Given the description of an element on the screen output the (x, y) to click on. 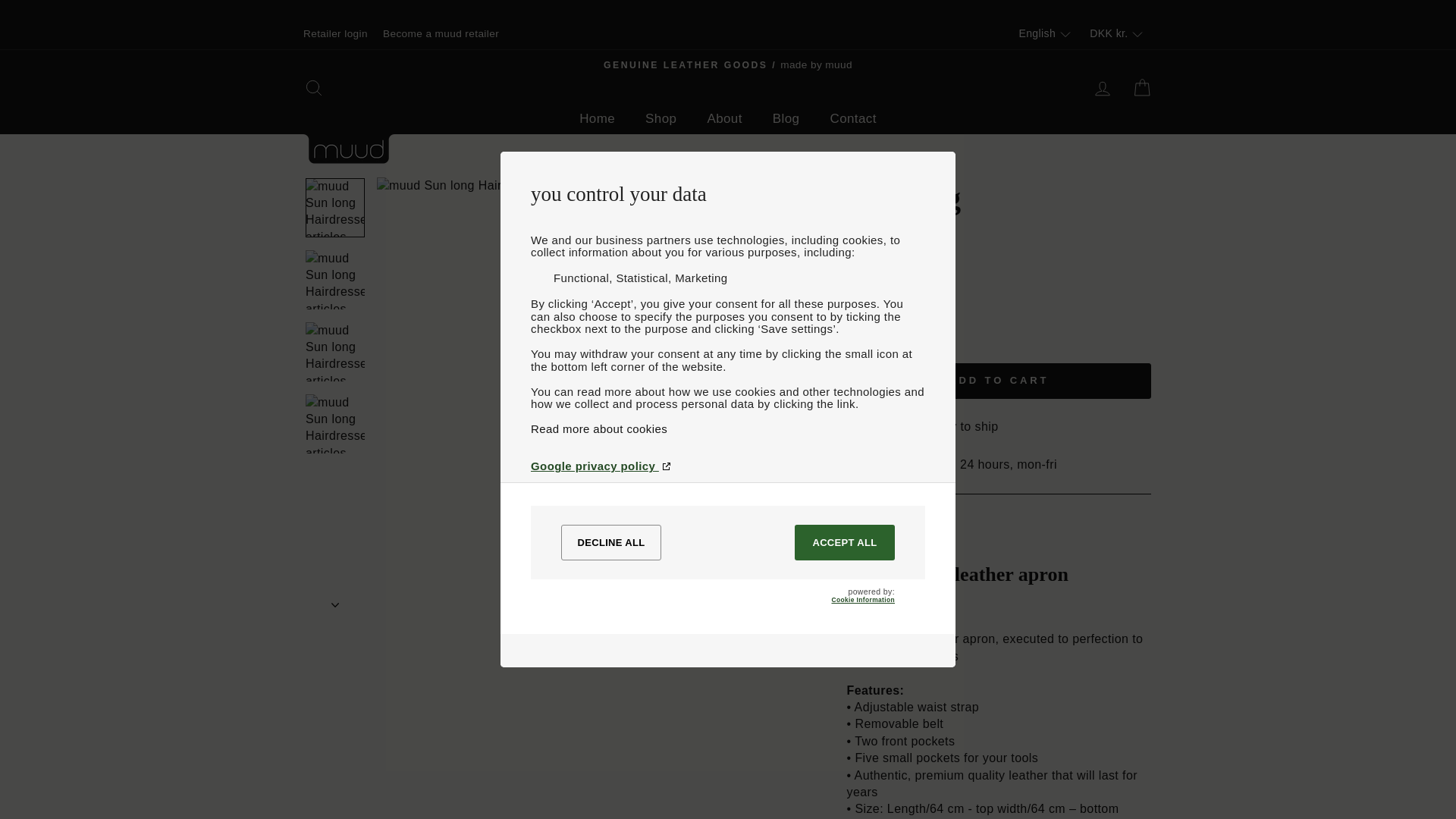
1 (871, 342)
Google privacy policy (727, 465)
Read more about cookies (727, 428)
